Given the description of an element on the screen output the (x, y) to click on. 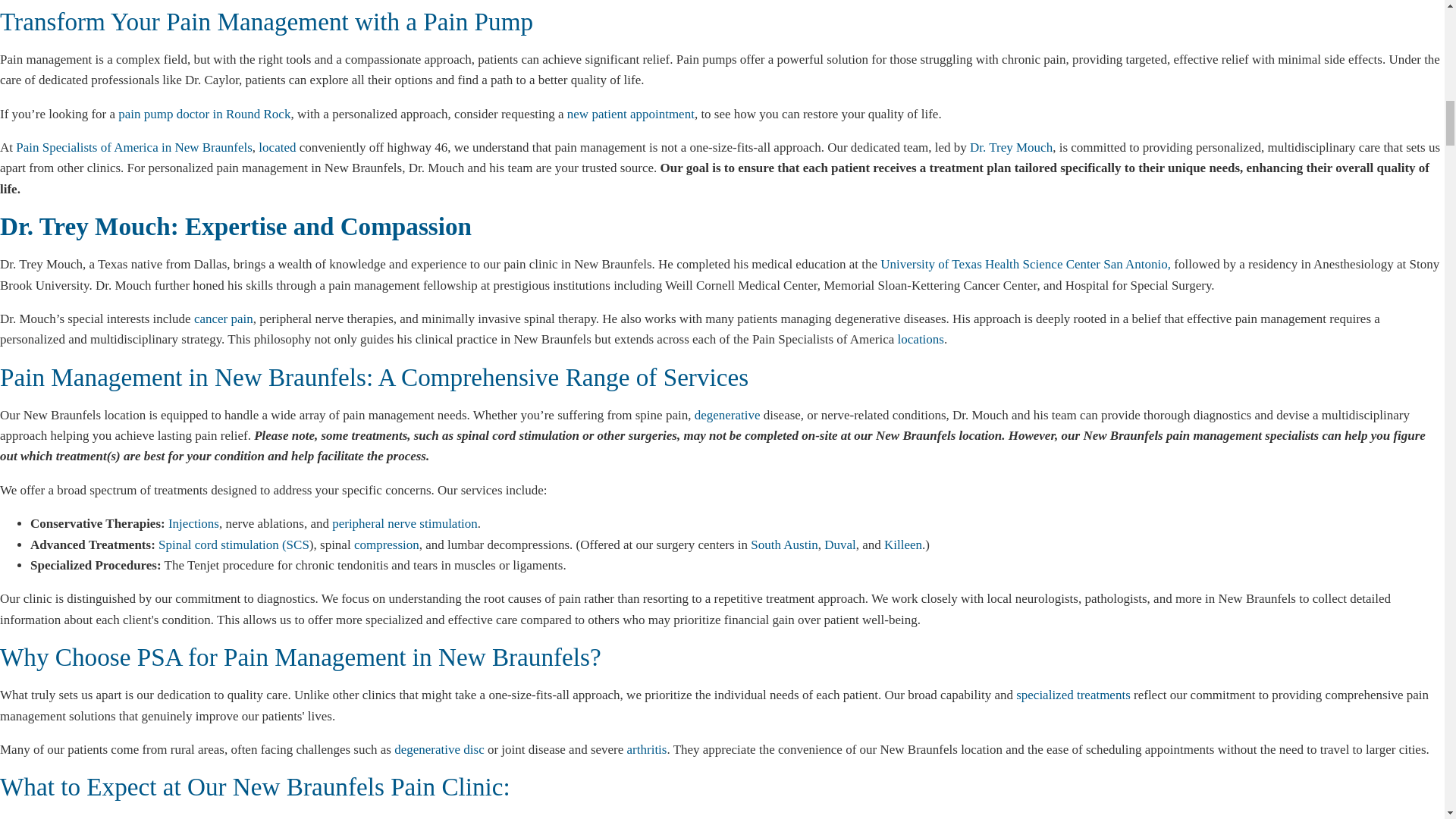
compression (386, 544)
arthritis (646, 749)
specialized treatments (1073, 694)
degenerative disc (438, 749)
Duval (840, 544)
pain pump doctor in Round Rock (203, 114)
University of Texas Health Science Center San Antonio, (1025, 264)
Pain Specialists of America in New Braunfels (133, 147)
cancer pain (223, 318)
peripheral nerve stimulation (404, 523)
